Given the description of an element on the screen output the (x, y) to click on. 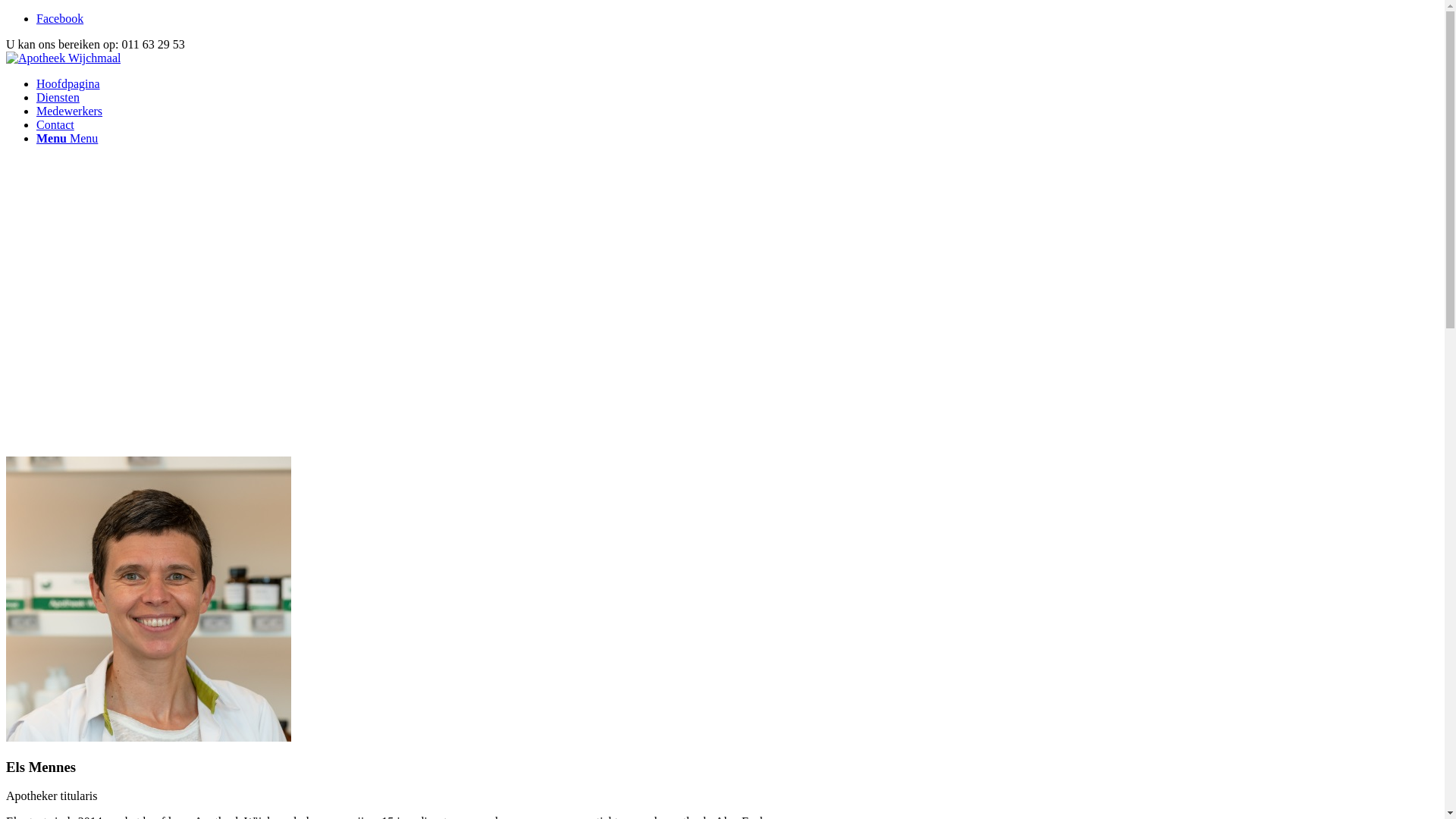
Contact Element type: text (55, 124)
Menu Menu Element type: text (66, 137)
Medewerkers Element type: text (69, 110)
Diensten Element type: text (57, 97)
Facebook Element type: text (59, 18)
Hoofdpagina Element type: text (68, 83)
ApotheekWijchmaalHeaderNewSmall Element type: hover (63, 58)
